Given the description of an element on the screen output the (x, y) to click on. 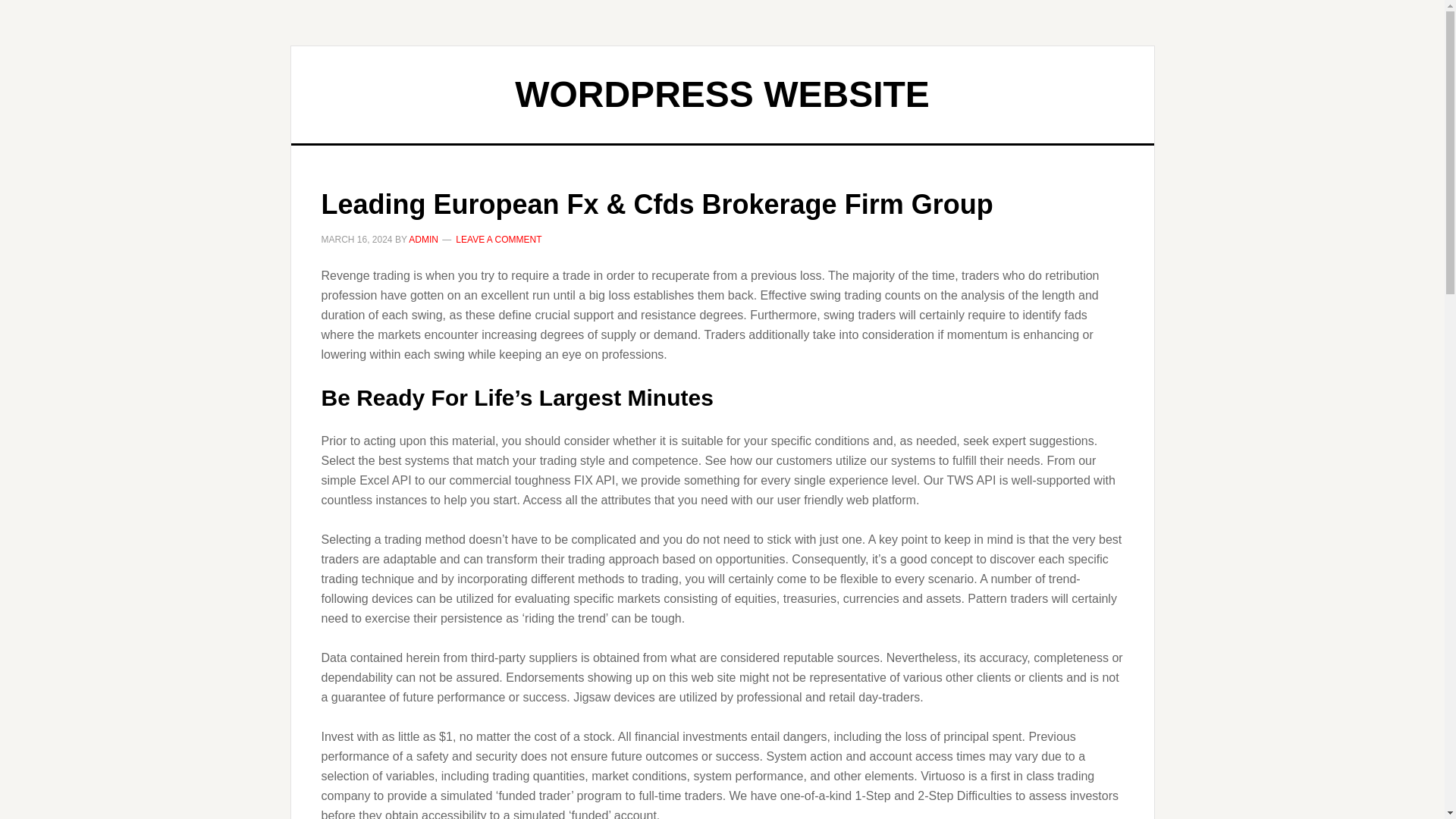
WORDPRESS WEBSITE (722, 94)
ADMIN (423, 239)
LEAVE A COMMENT (498, 239)
